Given the description of an element on the screen output the (x, y) to click on. 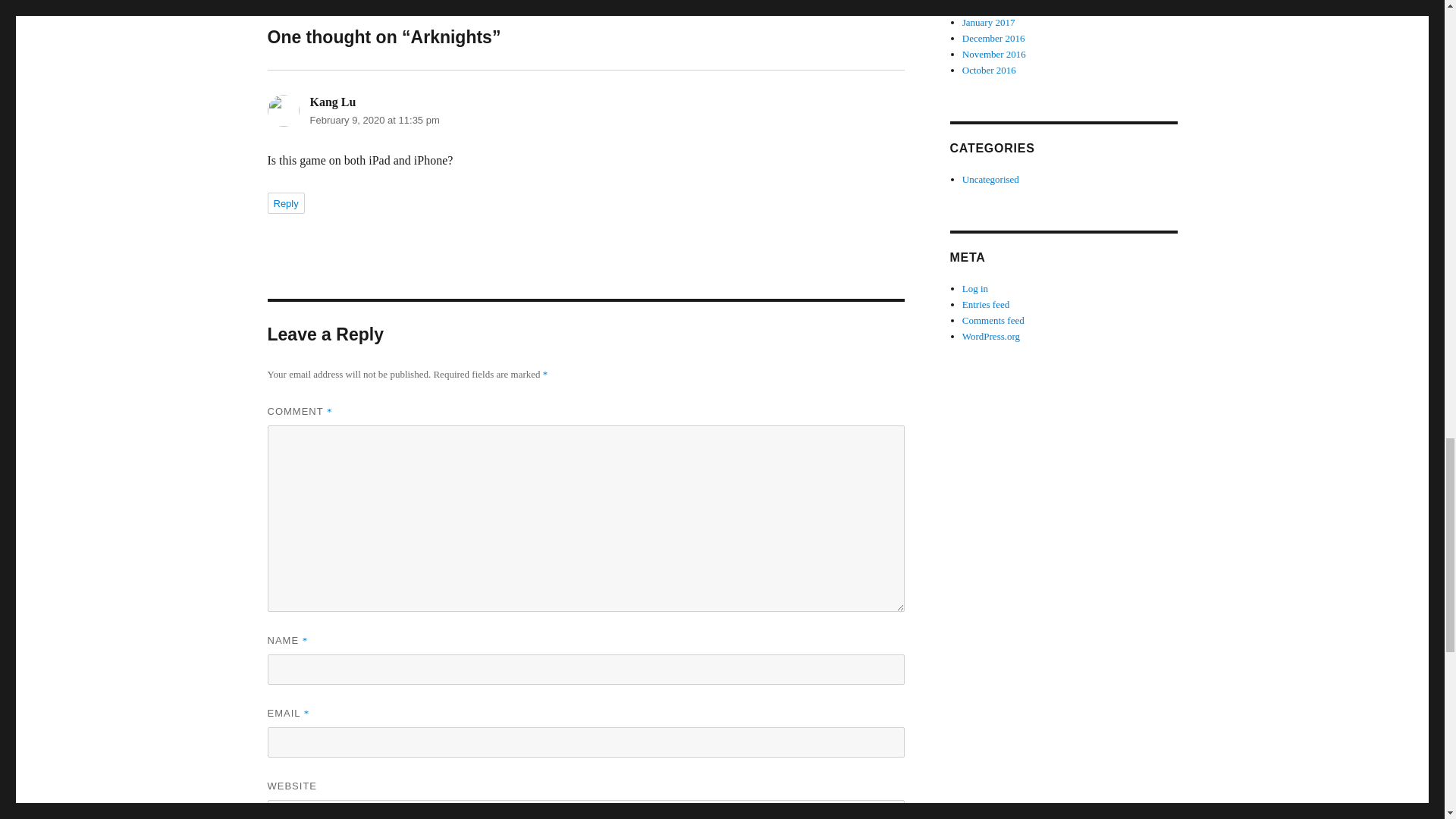
February 9, 2020 at 11:35 pm (373, 120)
Reply (285, 202)
